Given the description of an element on the screen output the (x, y) to click on. 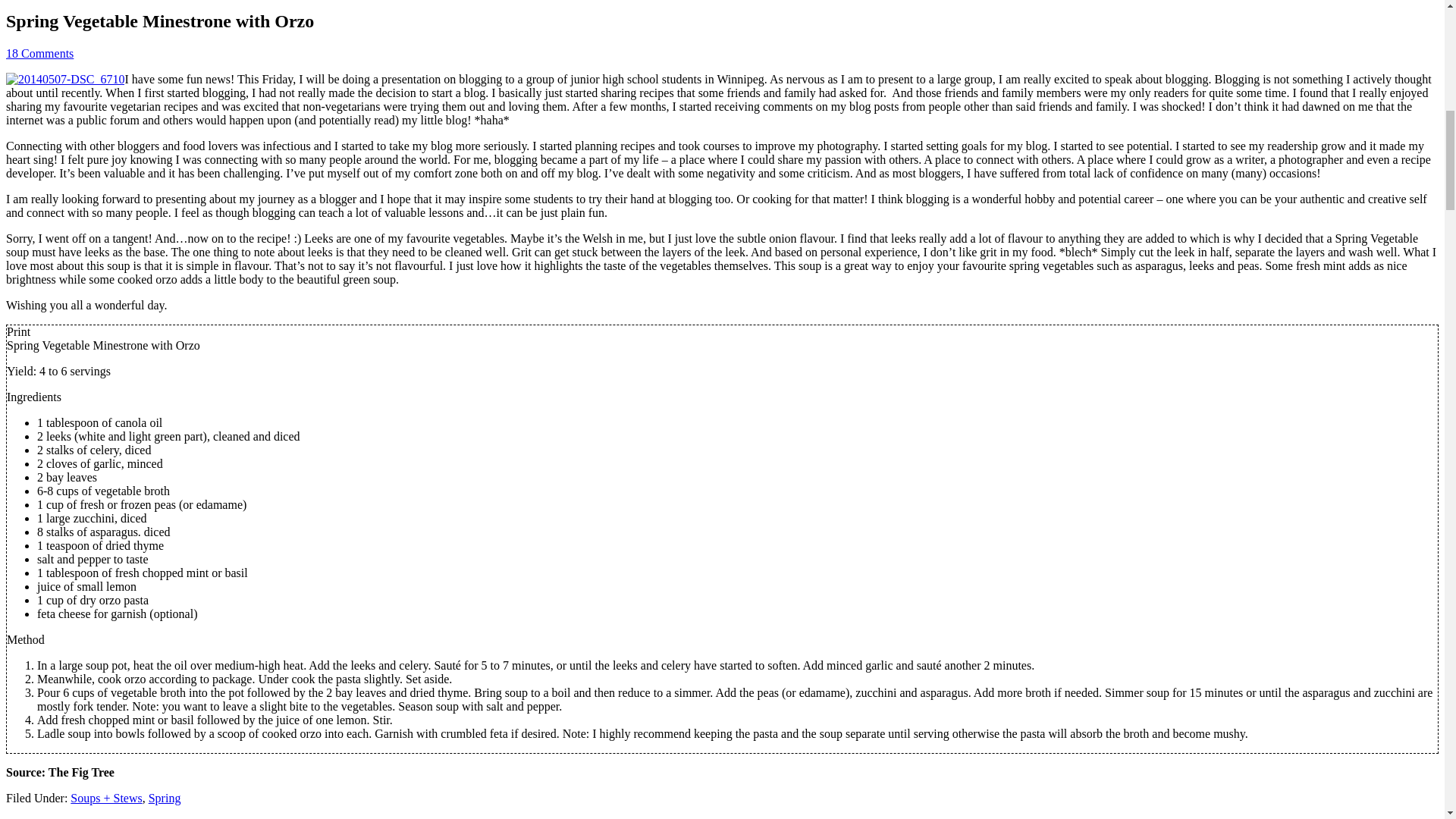
Print this recipe (18, 331)
